Given the description of an element on the screen output the (x, y) to click on. 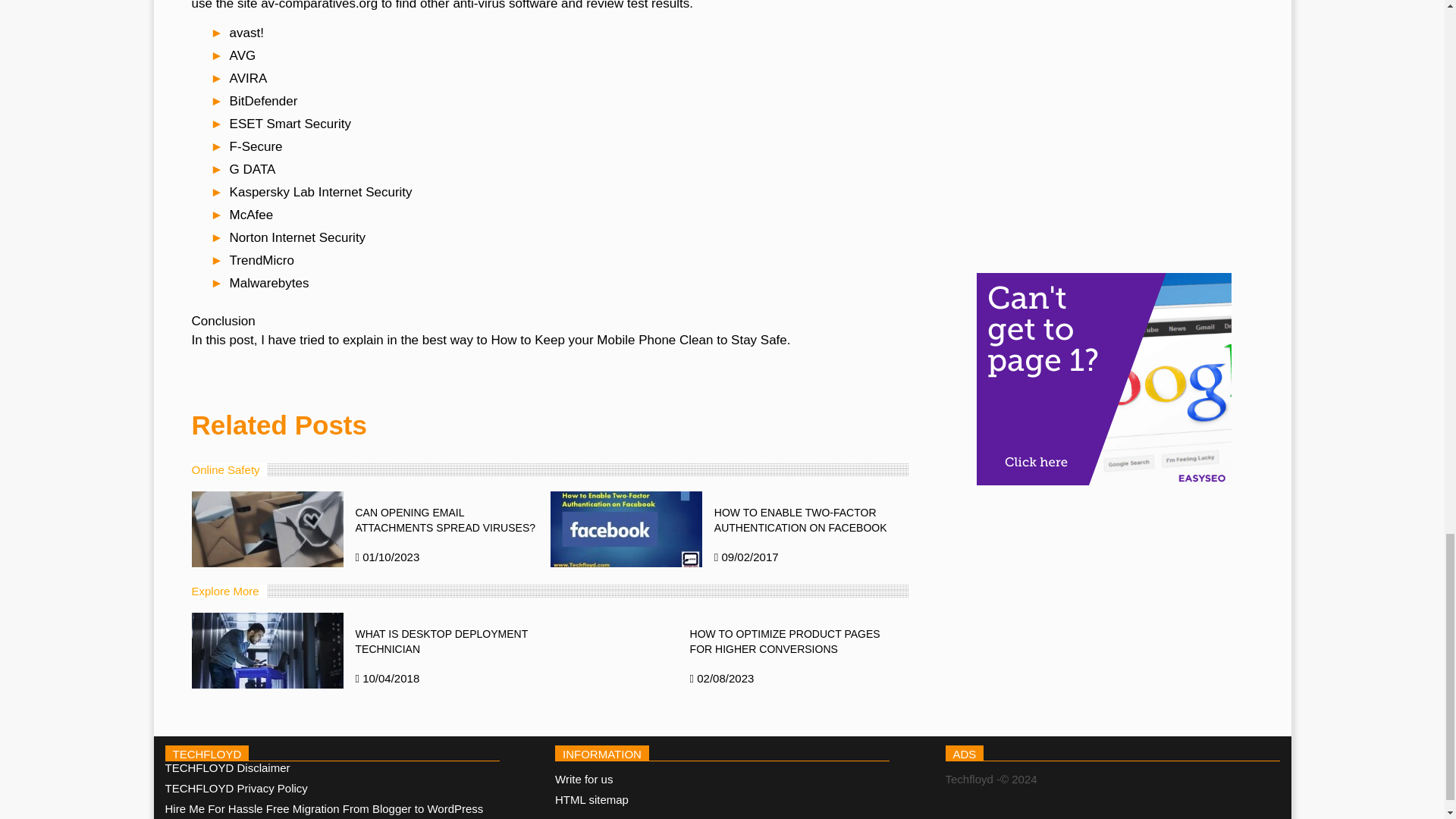
Can Opening Email Attachments Spread Viruses? (266, 529)
How to Enable Two-Factor Authentication on Facebook (625, 529)
What is Desktop Deployment Technician (266, 650)
